Given the description of an element on the screen output the (x, y) to click on. 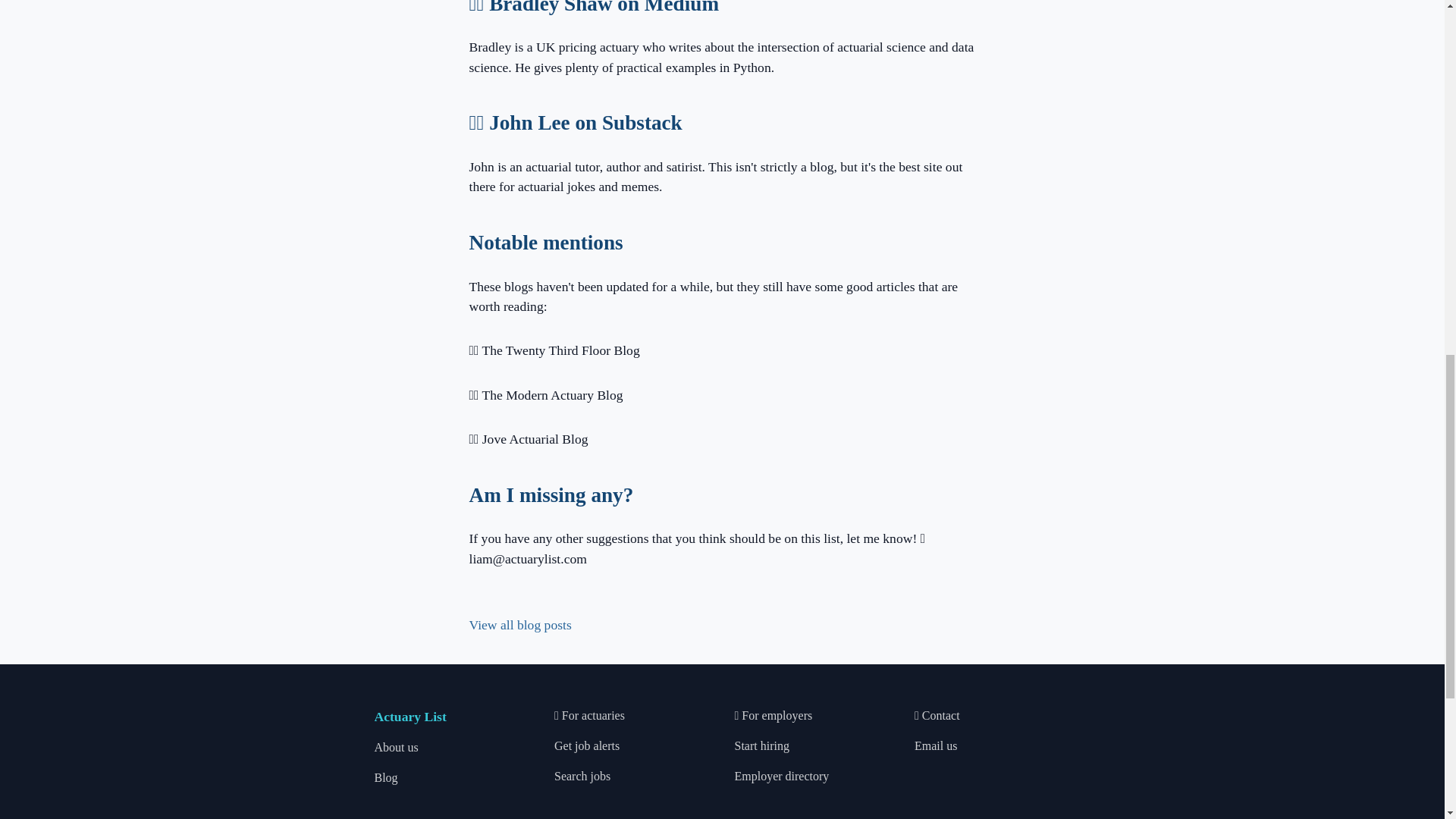
Get job alerts (587, 746)
Email us (935, 746)
Search jobs (582, 776)
View all blog posts (519, 624)
Employer directory (780, 776)
About us (396, 747)
Start hiring (761, 746)
Actuary List (410, 716)
